Given the description of an element on the screen output the (x, y) to click on. 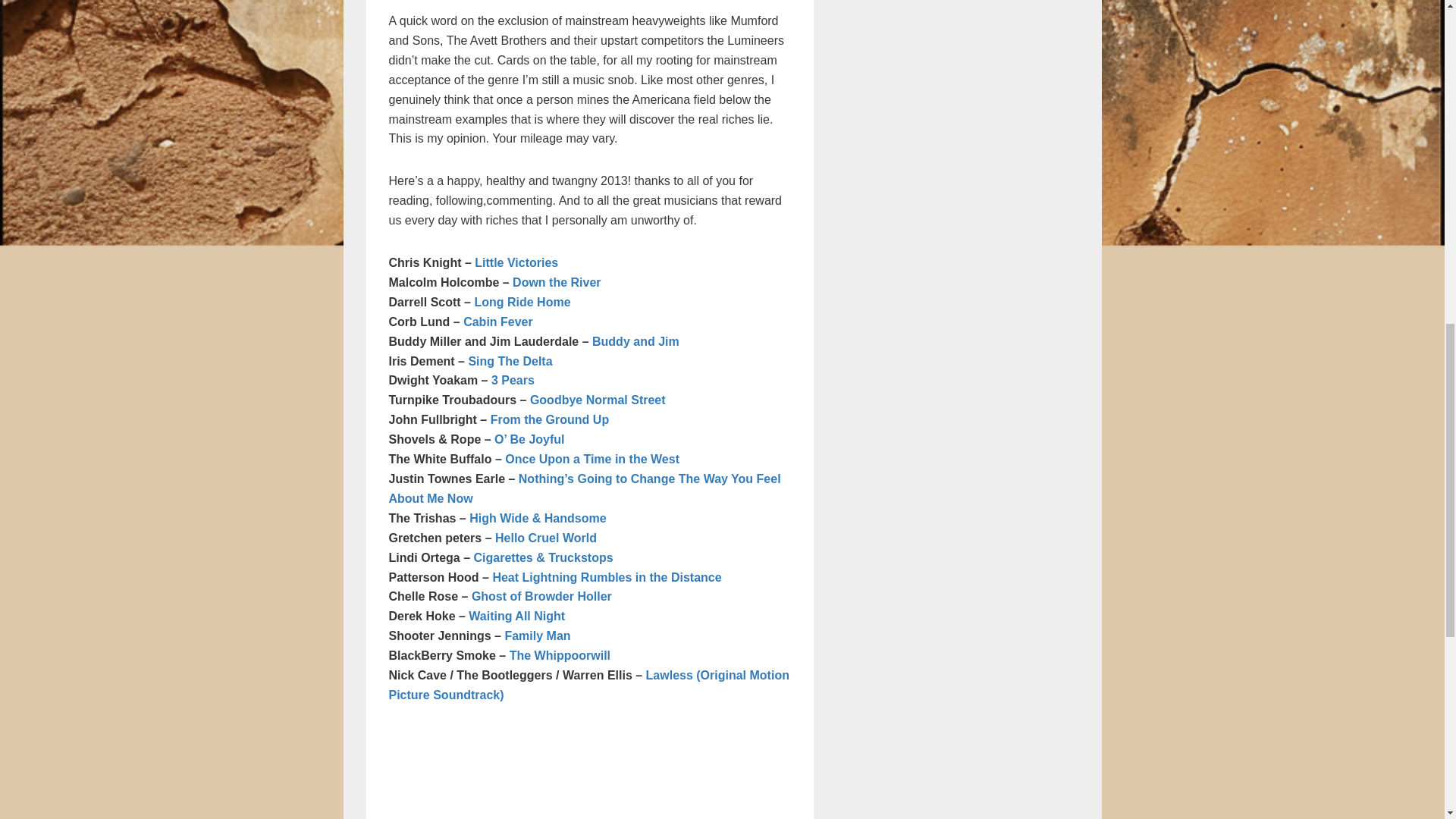
Ghost of Browder Holler (541, 595)
The Whippoorwill (559, 655)
3 Pears (513, 379)
Cabin Fever (497, 321)
From the Ground Up (549, 419)
Goodbye Normal Street (597, 399)
Sing The Delta (509, 360)
Heat Lightning Rumbles in the Distance (606, 576)
Hello Cruel World (545, 537)
Down the River (555, 282)
